Given the description of an element on the screen output the (x, y) to click on. 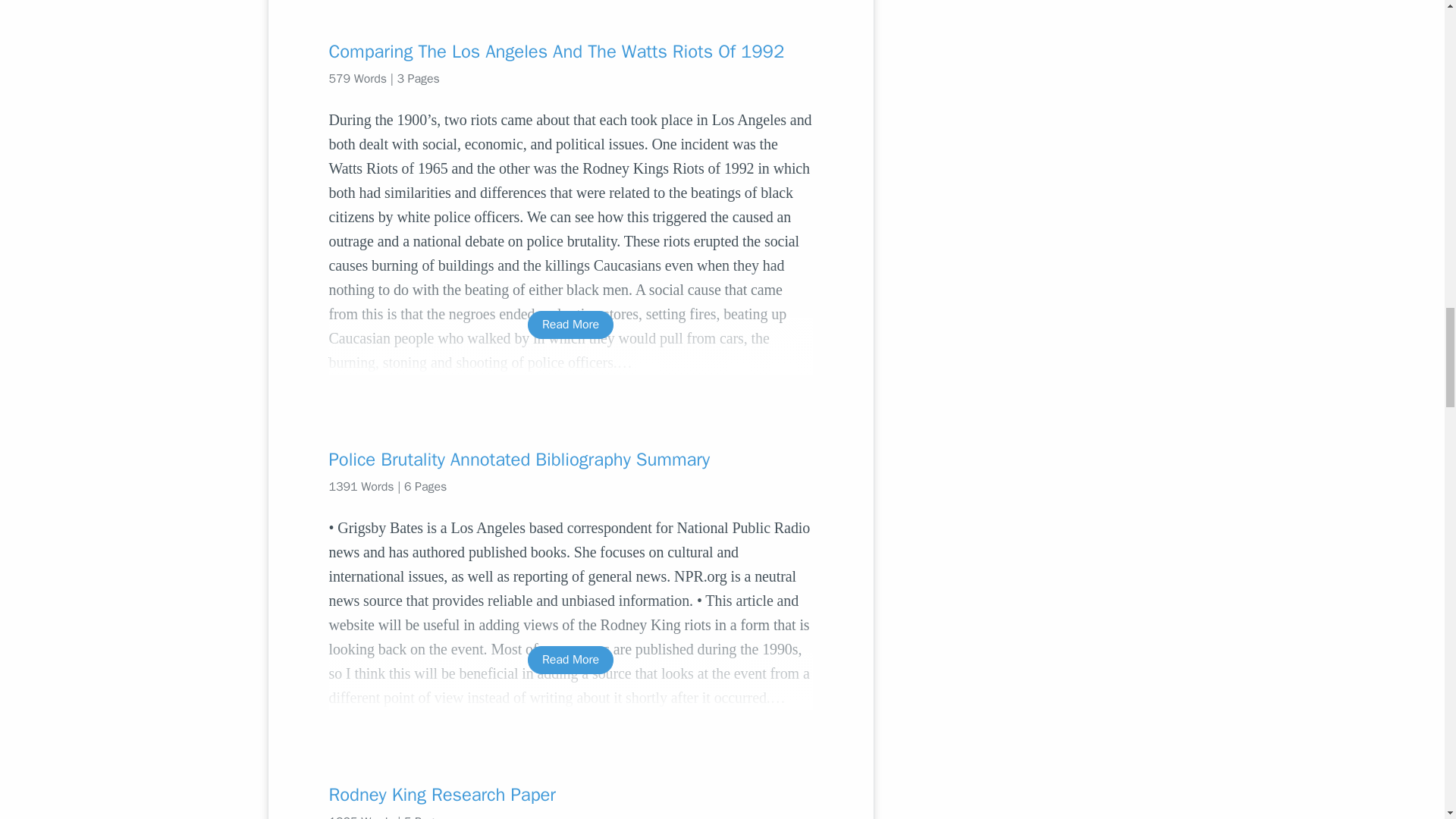
Rodney King Research Paper (570, 794)
Comparing The Los Angeles And The Watts Riots Of 1992 (570, 51)
Read More (569, 325)
Police Brutality Annotated Bibliography Summary (570, 459)
Read More (569, 660)
